Given the description of an element on the screen output the (x, y) to click on. 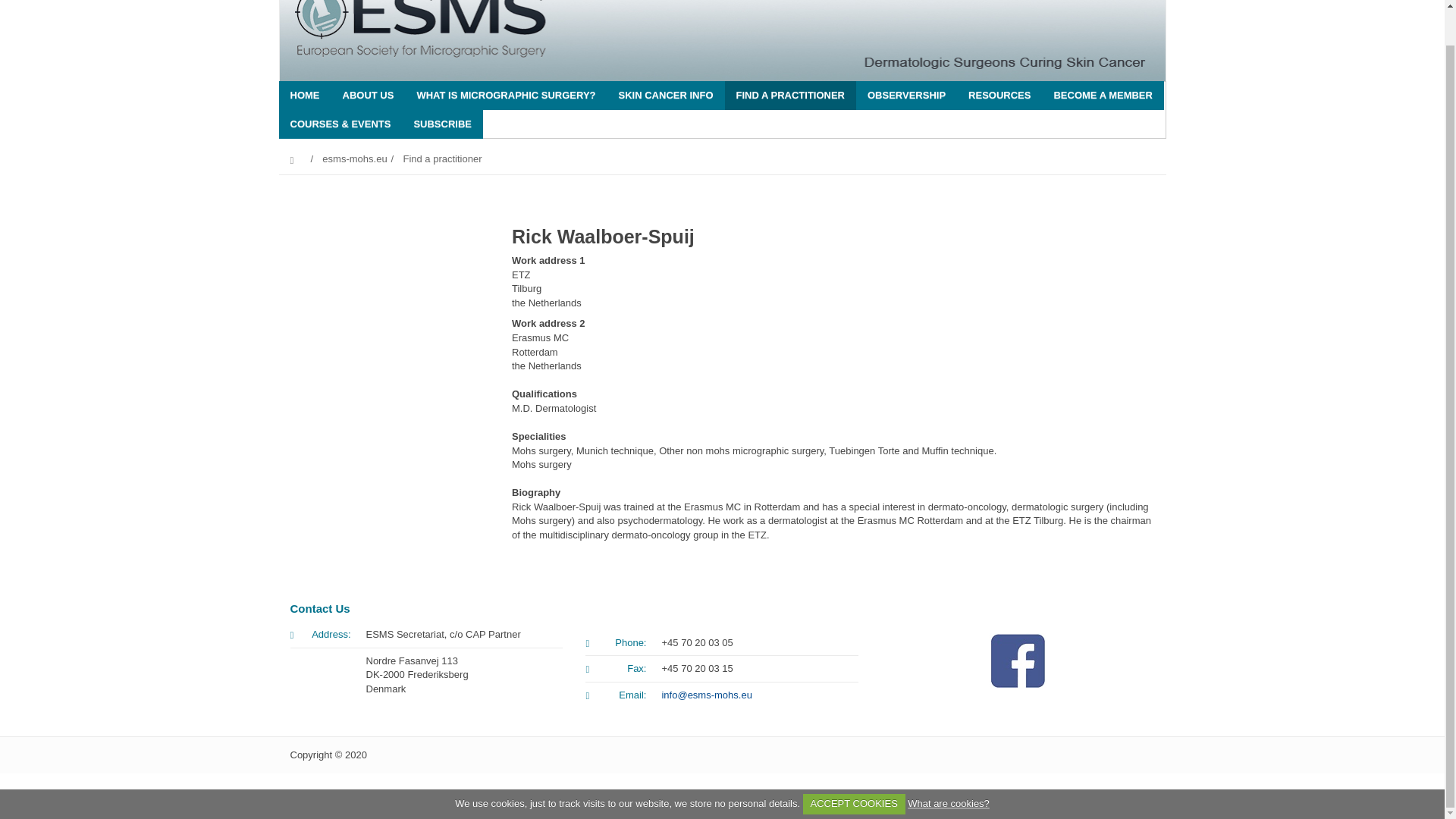
SKIN CANCER INFO (666, 95)
Skin Cancer info (666, 95)
FIND A PRACTITIONER (790, 95)
Home (305, 95)
Find a practitioner (790, 95)
BECOME A MEMBER (1102, 95)
CONFERENCE SITES (323, 176)
HOME (305, 95)
What is micrographic surgery? (505, 95)
Resources (999, 95)
